Given the description of an element on the screen output the (x, y) to click on. 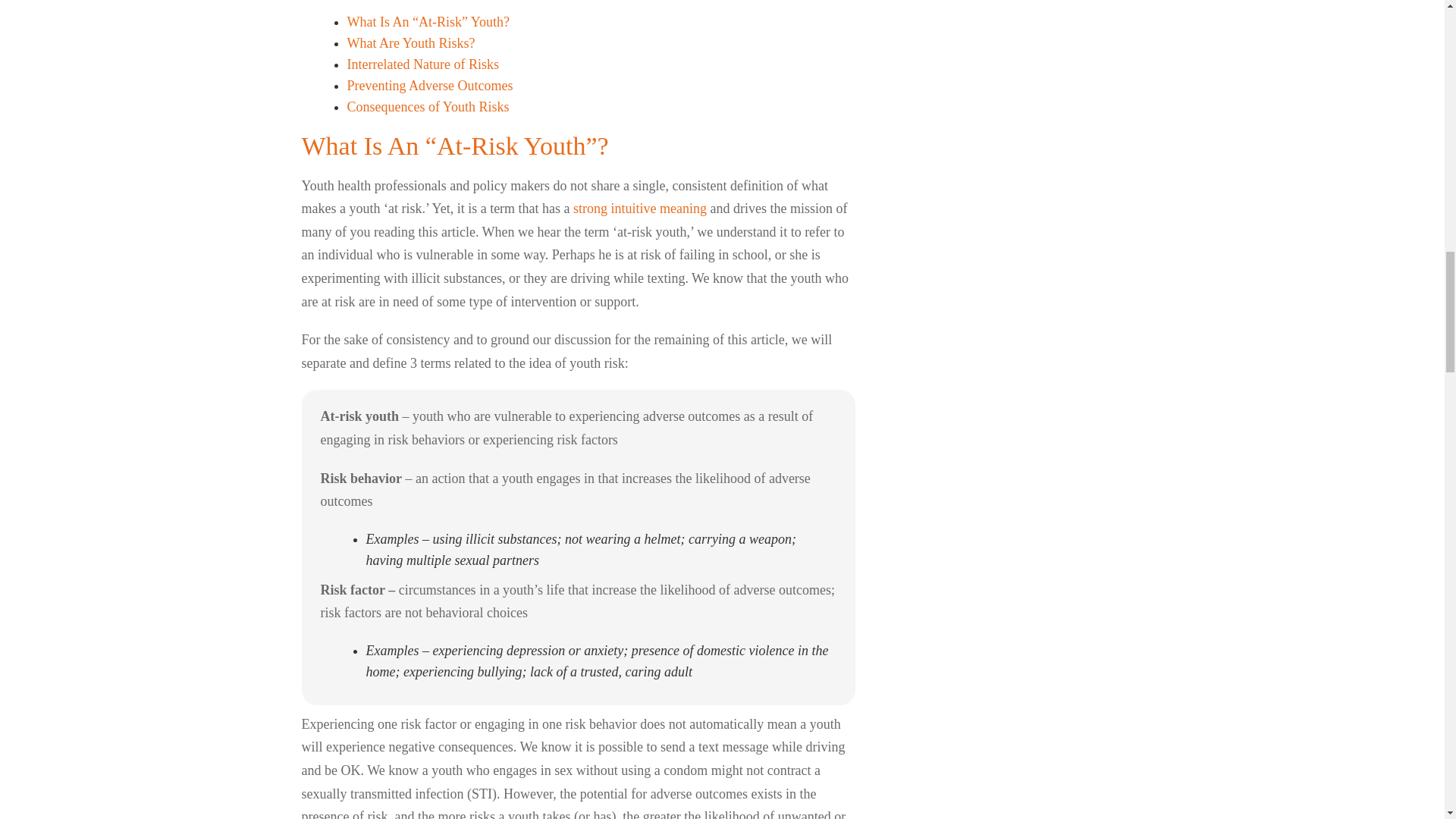
Consequences of Youth Risks (428, 106)
strong intuitive meaning (639, 208)
Interrelated Nature of Risks (423, 64)
What Are Youth Risks?  (413, 43)
Preventing Adverse Outcomes (430, 85)
